Given the description of an element on the screen output the (x, y) to click on. 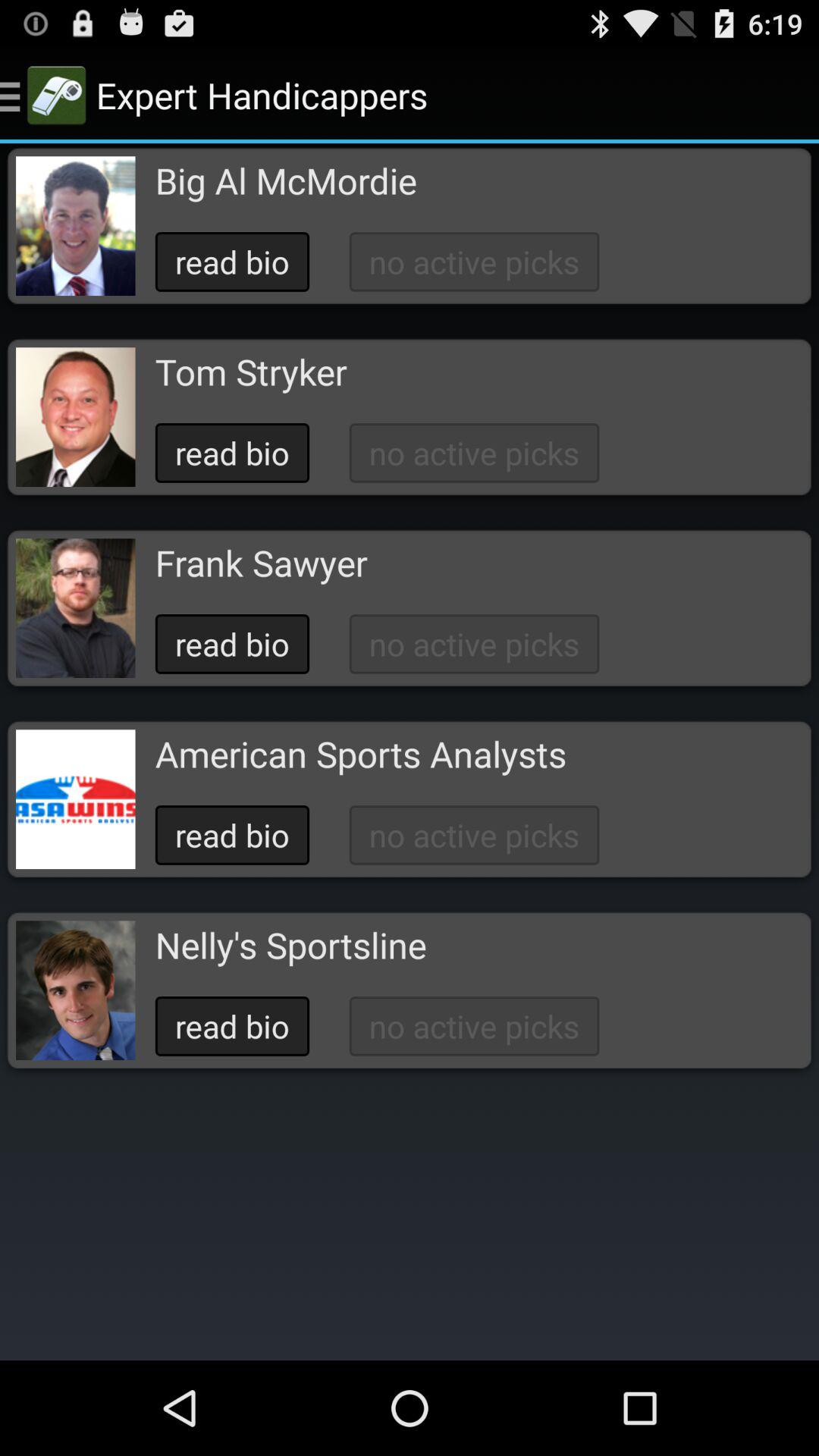
scroll to tom stryker icon (250, 371)
